Given the description of an element on the screen output the (x, y) to click on. 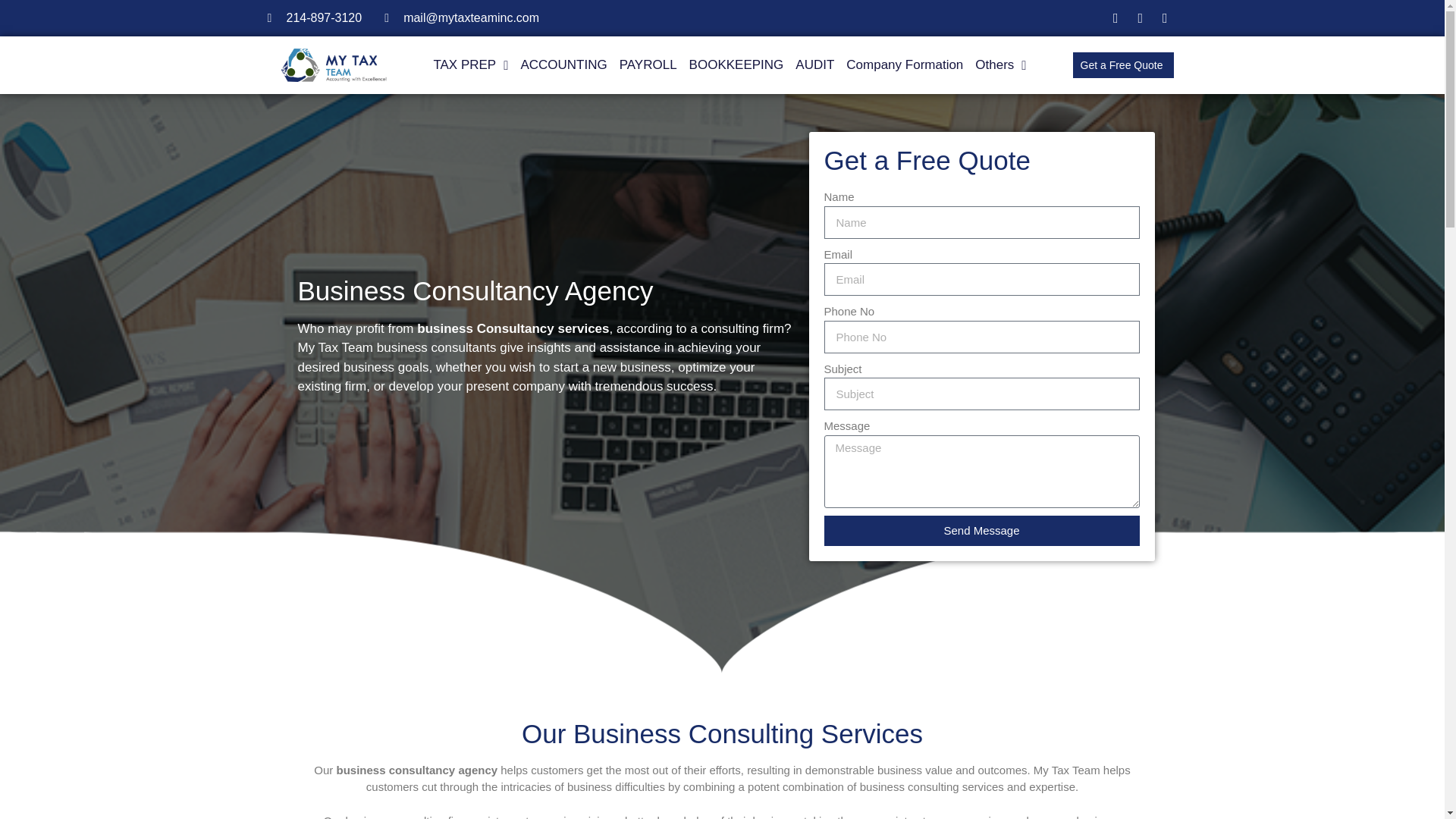
PAYROLL (648, 64)
TAX PREP (470, 64)
Others (1000, 64)
AUDIT (814, 64)
ACCOUNTING (563, 64)
BOOKKEEPING (736, 64)
214-897-3120 (313, 18)
Send Message (981, 530)
Get a Free Quote (1122, 64)
Company Formation (903, 64)
